Given the description of an element on the screen output the (x, y) to click on. 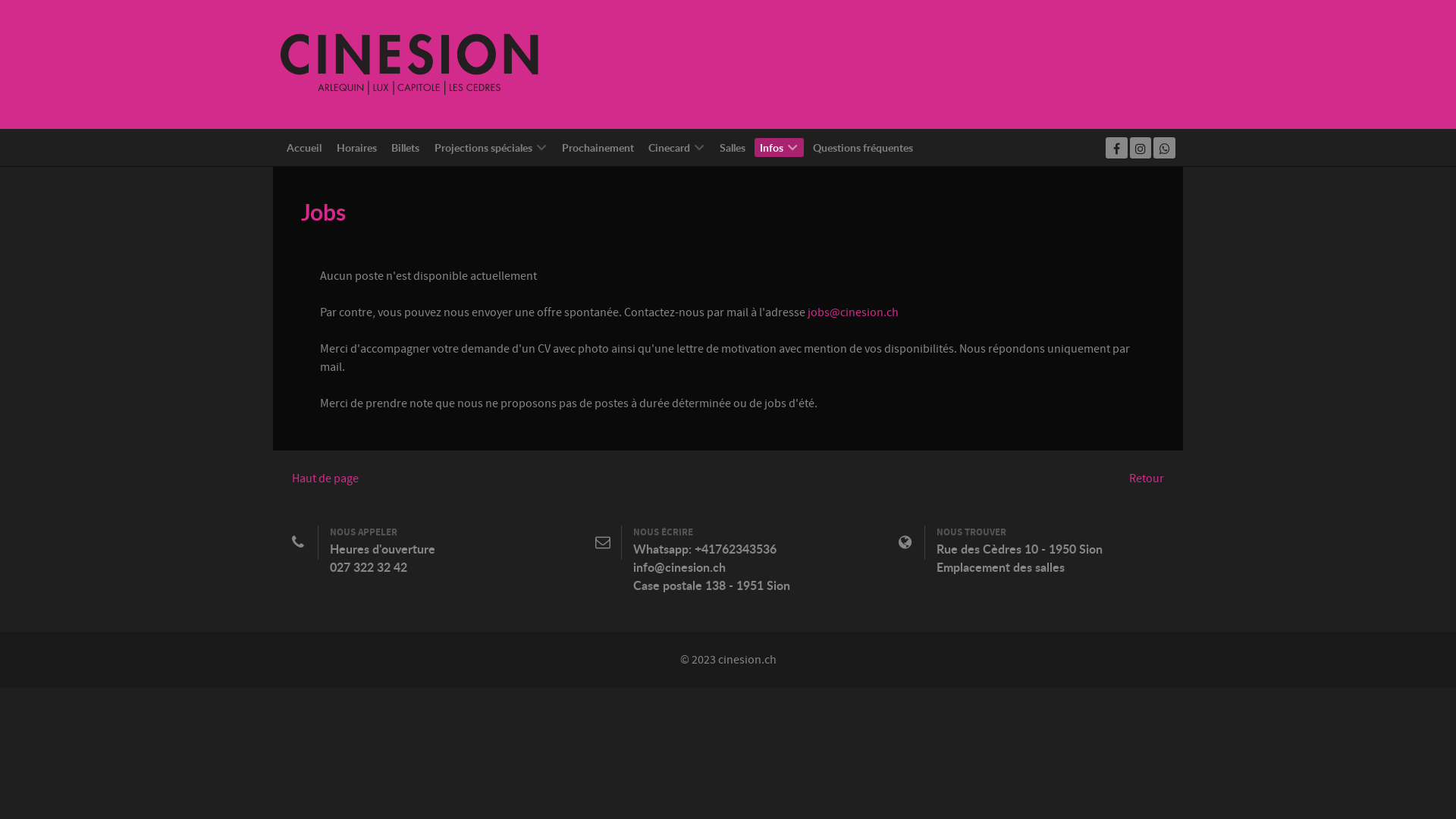
Salles Element type: text (731, 147)
Billets Element type: text (405, 147)
Horaires Element type: text (356, 147)
Haut de page Element type: text (324, 478)
Cinecard Element type: text (676, 147)
Retour Element type: text (1146, 478)
Heures d'ouverture Element type: text (382, 548)
info@cinesion.ch Element type: text (679, 567)
Cinesion Element type: hover (409, 63)
jobs@cinesion.ch Element type: text (852, 312)
Prochainement Element type: text (597, 147)
Infos Element type: text (778, 147)
+41762343536 Element type: text (735, 548)
Accueil Element type: text (304, 147)
Emplacement des salles Element type: text (1000, 567)
